Given the description of an element on the screen output the (x, y) to click on. 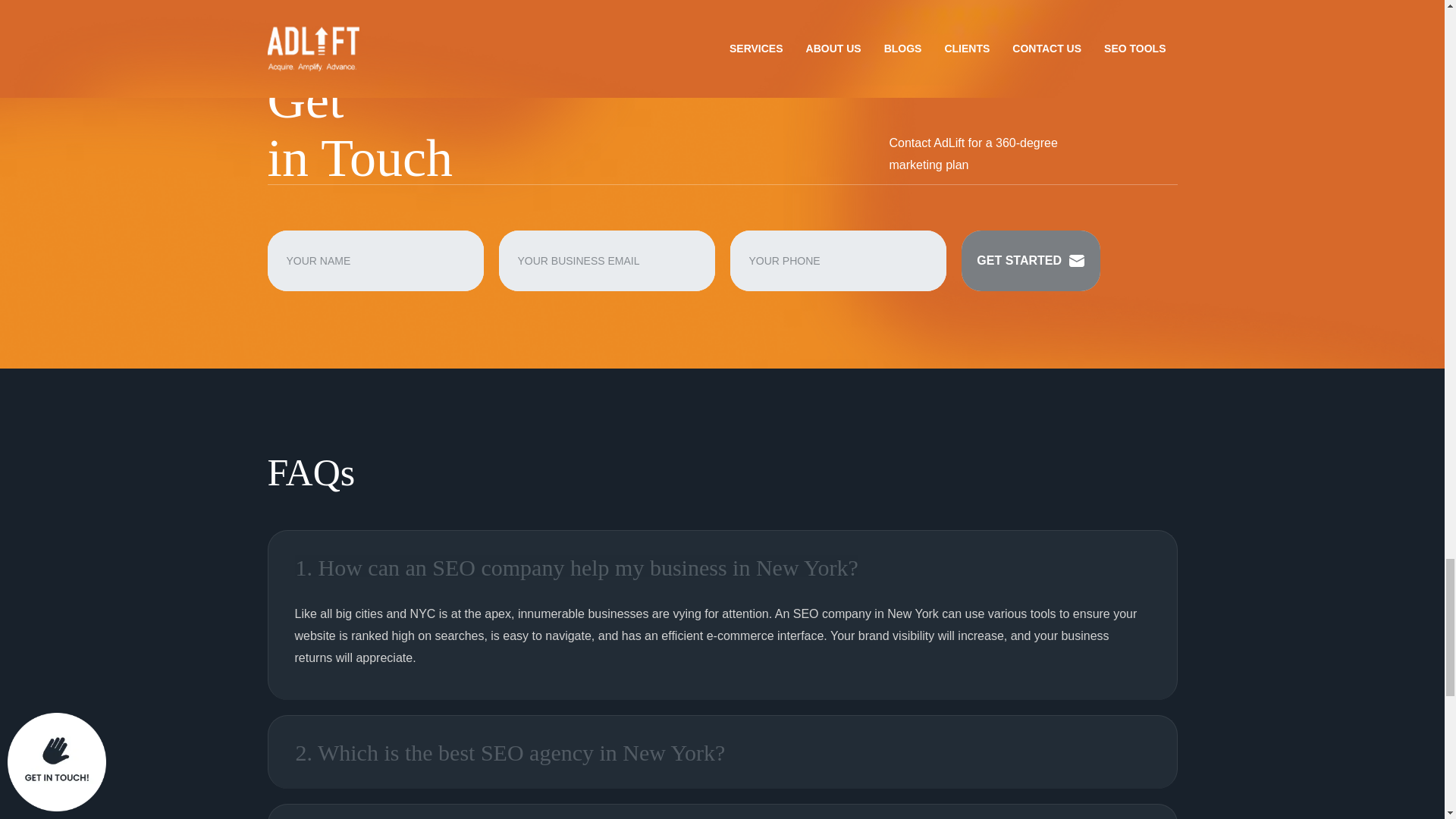
GET STARTED (1030, 260)
Please enter text only (374, 260)
2. Which is the best SEO agency in New York? (721, 752)
Please enter valid contact number (836, 260)
1. How can an SEO company help my business in New York? (721, 567)
3. What services does an SEO company in New York offer? (721, 811)
